Given the description of an element on the screen output the (x, y) to click on. 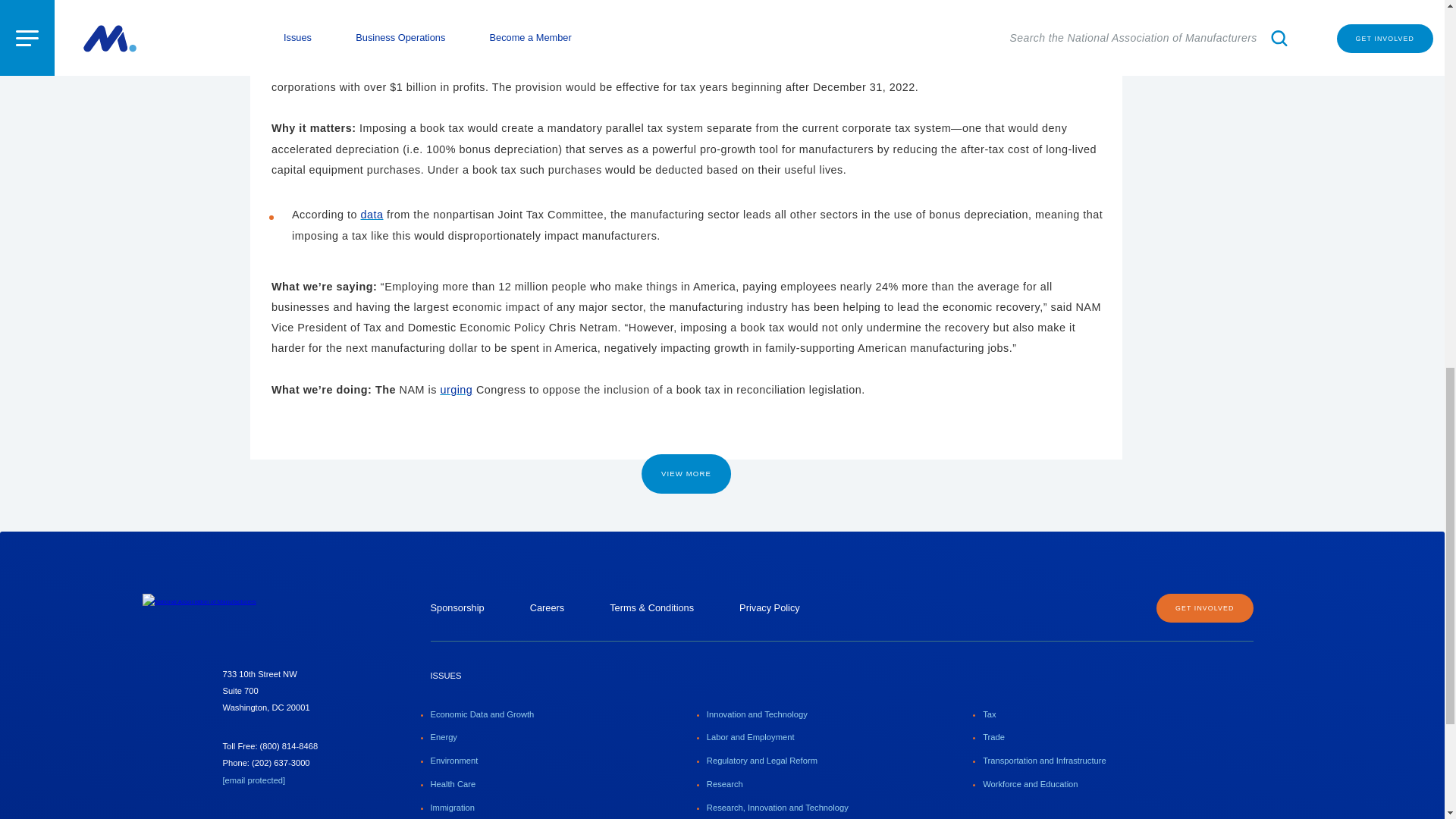
VIEW MORE (686, 473)
Privacy Policy (769, 607)
Careers (546, 607)
Sponsorship (457, 607)
data (372, 214)
GET INVOLVED (1204, 608)
urging (455, 389)
